Given the description of an element on the screen output the (x, y) to click on. 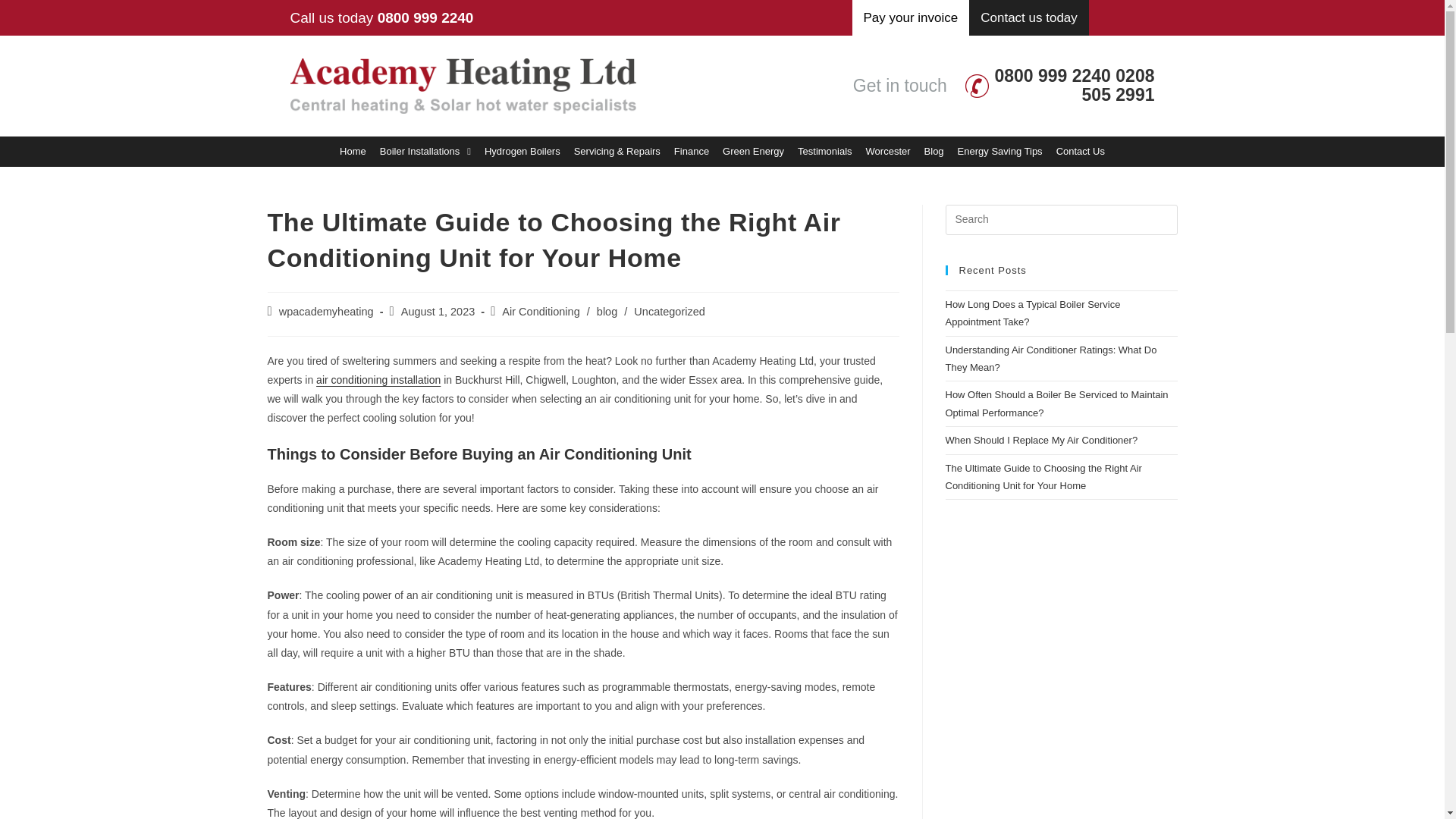
Green Energy (753, 151)
Worcester (888, 151)
0800 999 2240 (1054, 75)
blog (606, 311)
Finance (691, 151)
Boiler Installations (425, 151)
Air Conditioning (540, 311)
Energy Saving Tips (1000, 151)
Uncategorized (668, 311)
air conditioning installation (378, 379)
